Given the description of an element on the screen output the (x, y) to click on. 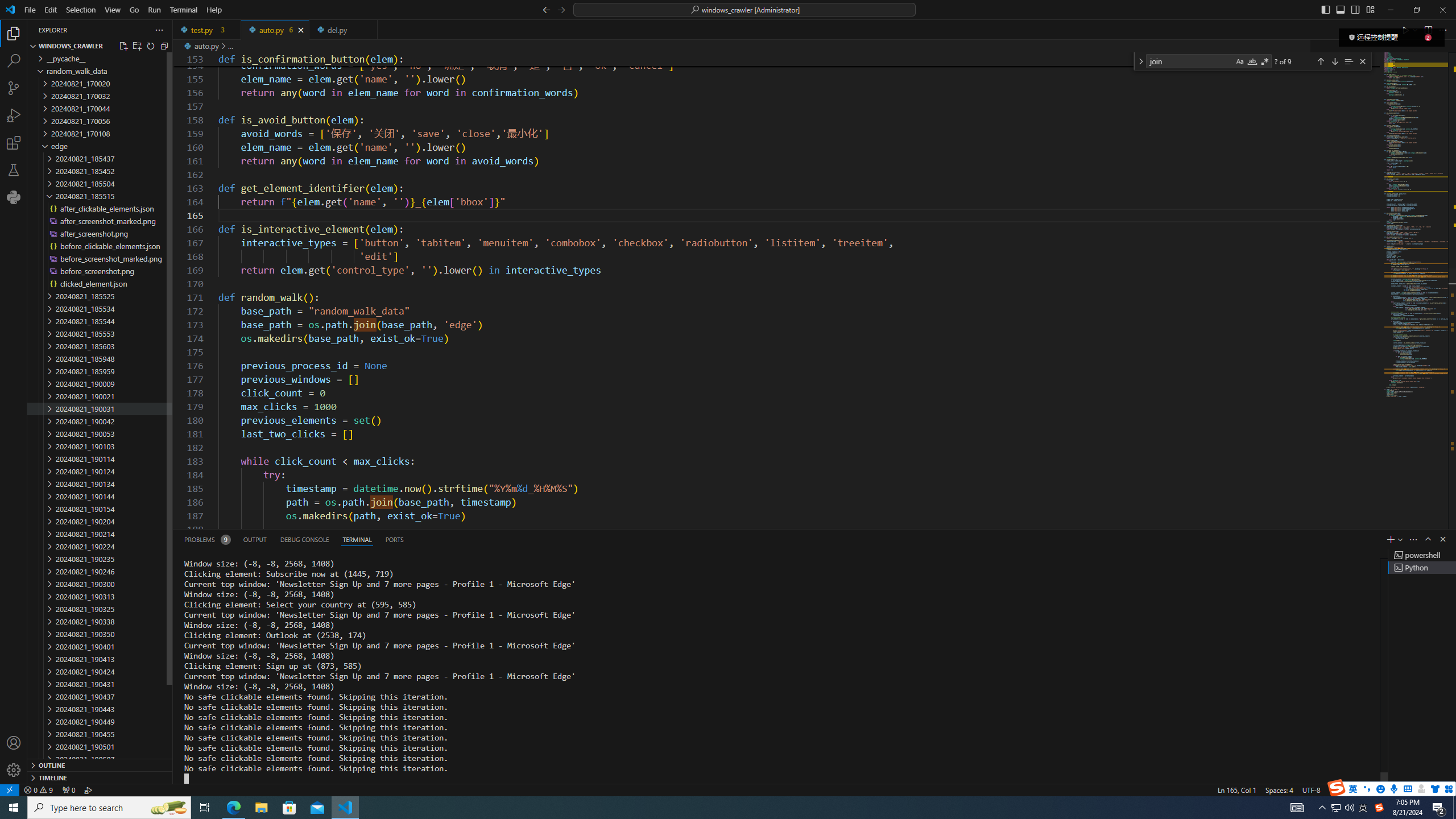
New File... (123, 45)
Source Control (Ctrl+Shift+G) (13, 87)
Toggle Secondary Side Bar (Ctrl+Alt+B) (1355, 9)
Close (Ctrl+F4) (369, 29)
Problems (Ctrl+Shift+M) - Total 9 Problems (206, 539)
test.py (207, 29)
Match Whole Word (Alt+W) (1251, 61)
Accounts (13, 742)
Run and Debug (Ctrl+Shift+D) (13, 115)
